Given the description of an element on the screen output the (x, y) to click on. 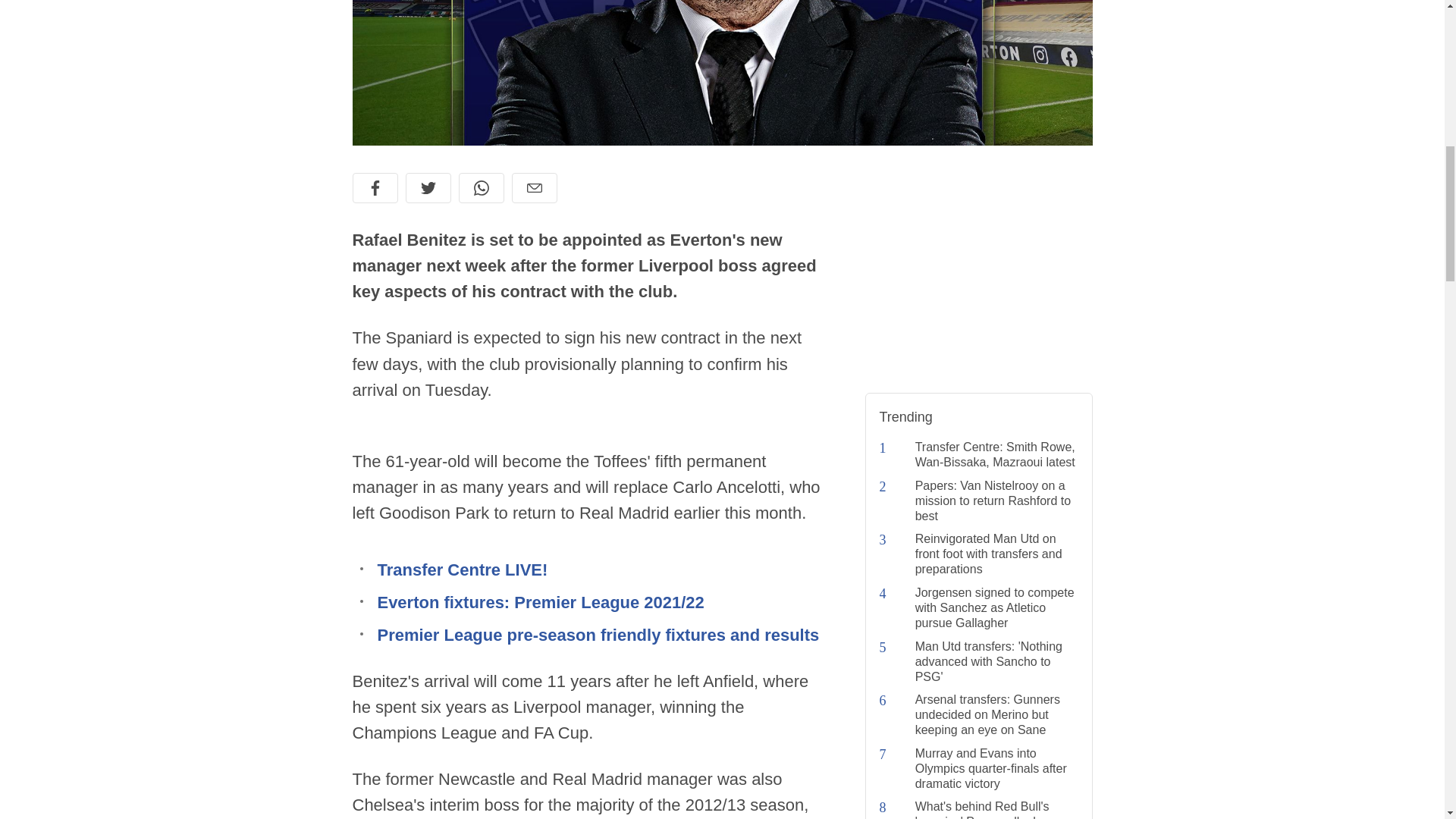
Share on WhatsApp (480, 187)
Share on Twitter (426, 187)
Share by email (533, 187)
Share on Facebook (374, 187)
